Given the description of an element on the screen output the (x, y) to click on. 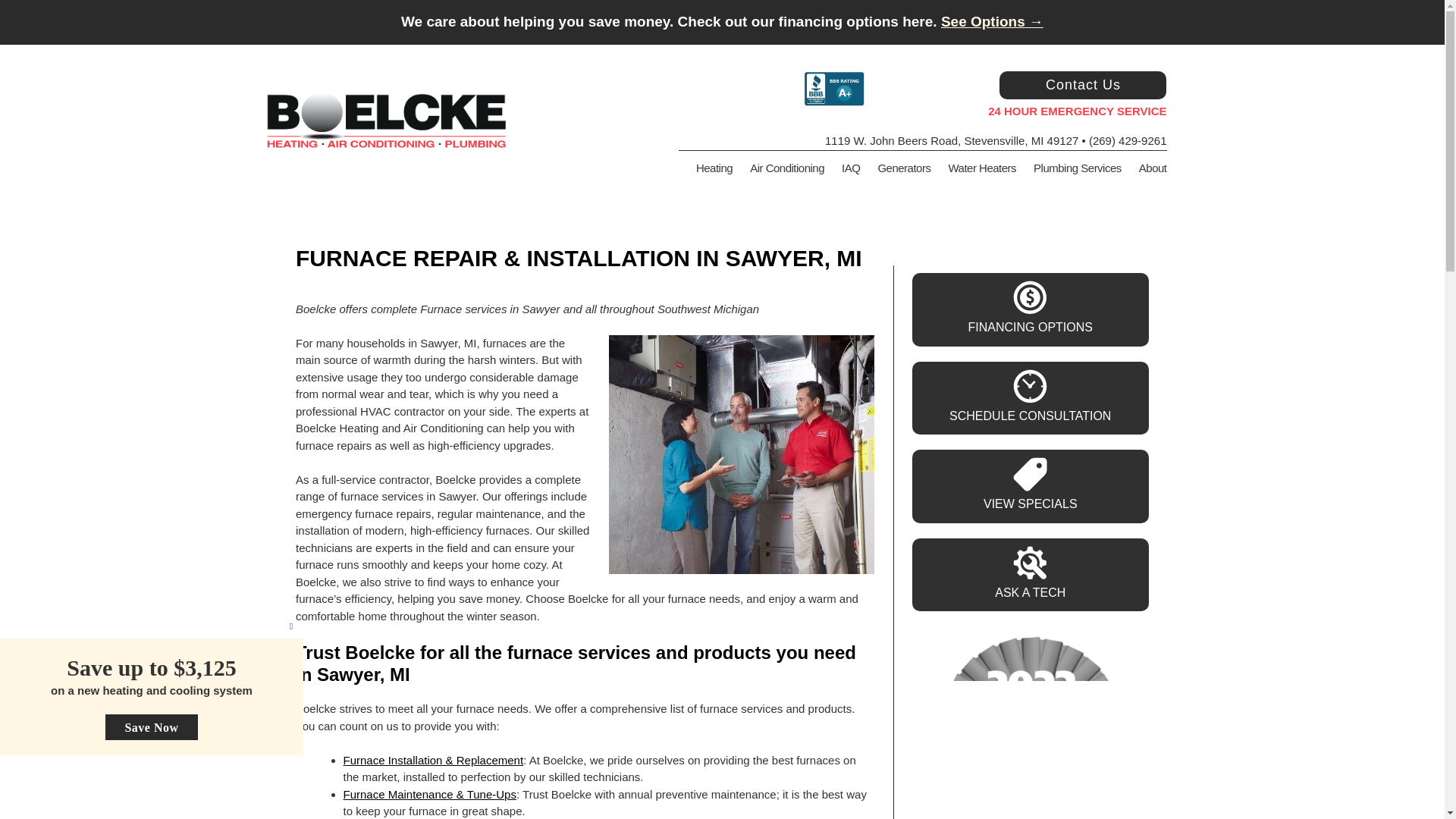
Contact Us (1082, 85)
financing-options (1029, 297)
24 HOUR EMERGENCY SERVICE (1029, 106)
schedule-consultation (1029, 386)
IAQ (842, 168)
Air Conditioning (778, 168)
view-specials-1 (1029, 474)
Contact Us (1083, 84)
Heating (705, 168)
